Given the description of an element on the screen output the (x, y) to click on. 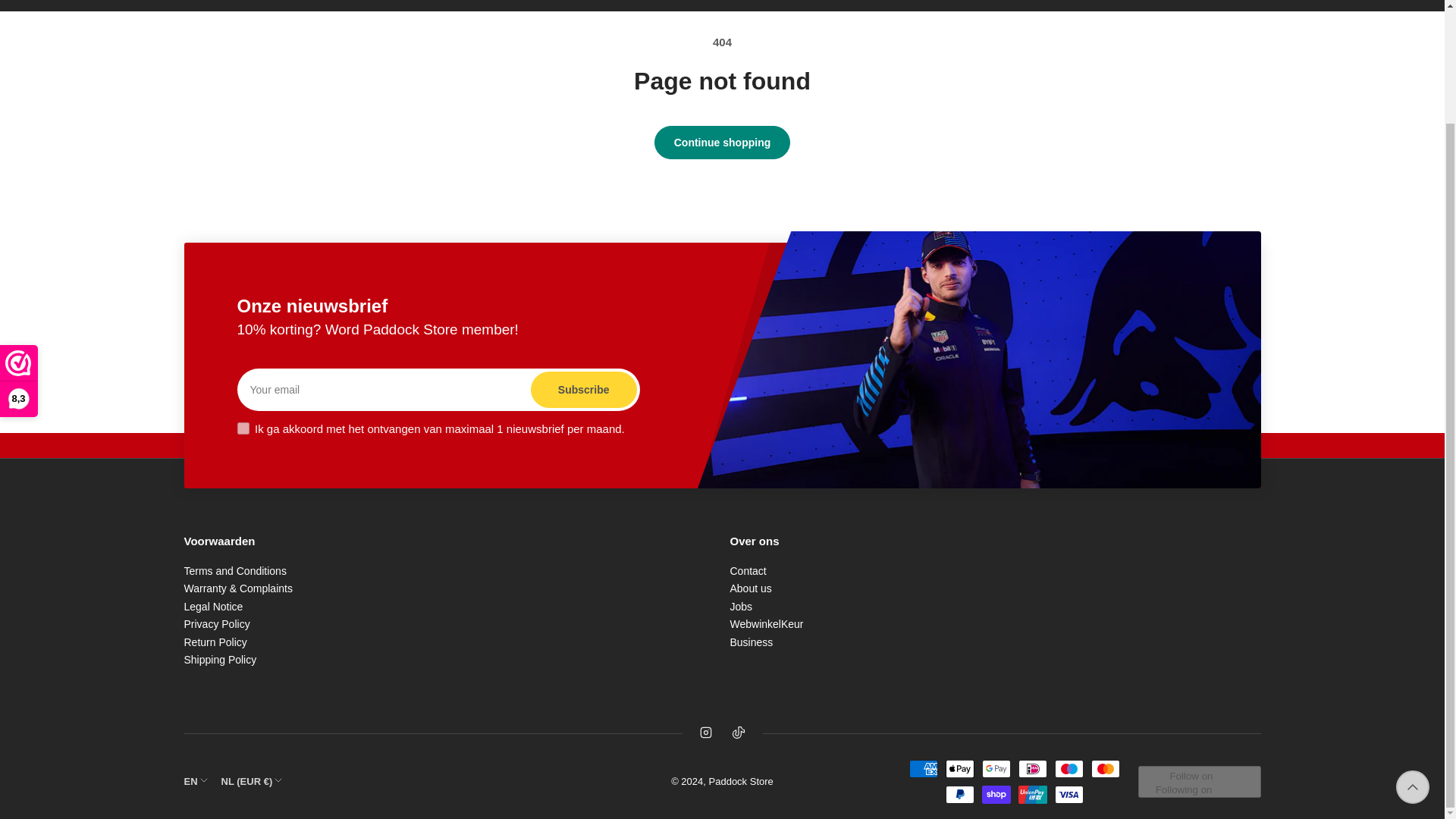
on (241, 428)
Apple Pay (959, 769)
Maestro (1068, 769)
Google Pay (995, 769)
iDEAL (1031, 769)
PayPal (959, 794)
American Express (922, 769)
Shop Pay (995, 794)
Mastercard (1104, 769)
